Given the description of an element on the screen output the (x, y) to click on. 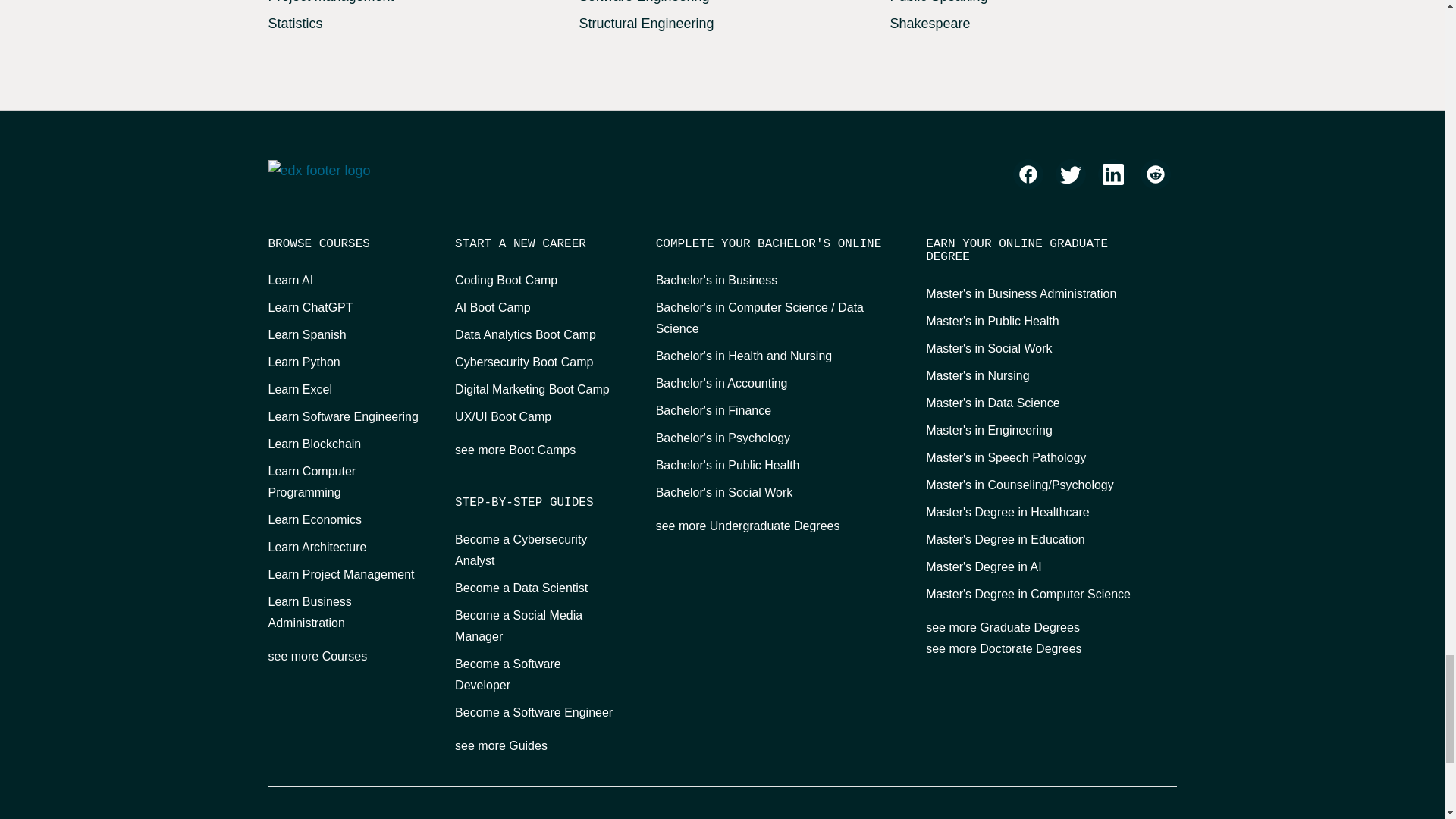
Reddit (1155, 173)
Twitter (1070, 173)
Facebook (1028, 173)
LinkedIn (1112, 173)
